Given the description of an element on the screen output the (x, y) to click on. 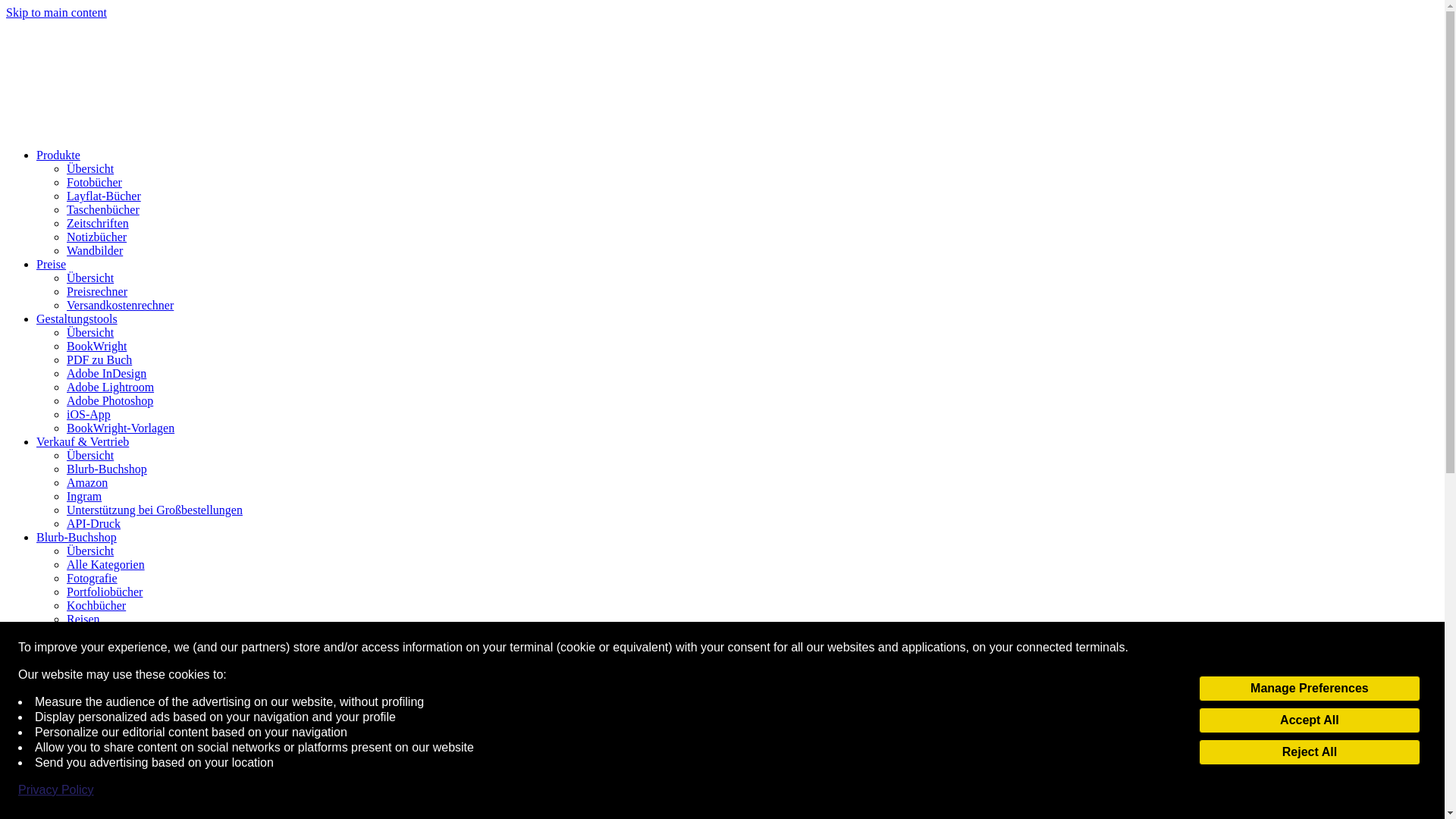
Reject All (1309, 751)
Adobe Lightroom (110, 386)
BookWright (96, 345)
Gestaltungstools (76, 318)
Versandkostenrechner (119, 305)
PDF zu Buch (99, 359)
Skip to main content (55, 11)
API-Druck (93, 522)
Blurb-Buchshop (106, 468)
Wandbilder (94, 250)
Ingram (83, 495)
BookWright-Vorlagen (120, 427)
Adobe InDesign (106, 373)
Preise (50, 264)
Accept All (1309, 720)
